Given the description of an element on the screen output the (x, y) to click on. 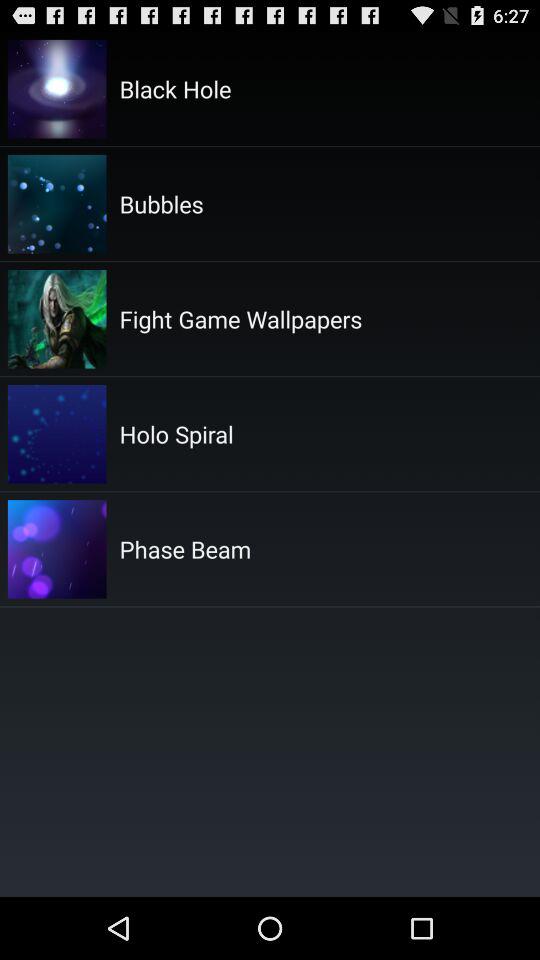
choose item below bubbles app (240, 318)
